Given the description of an element on the screen output the (x, y) to click on. 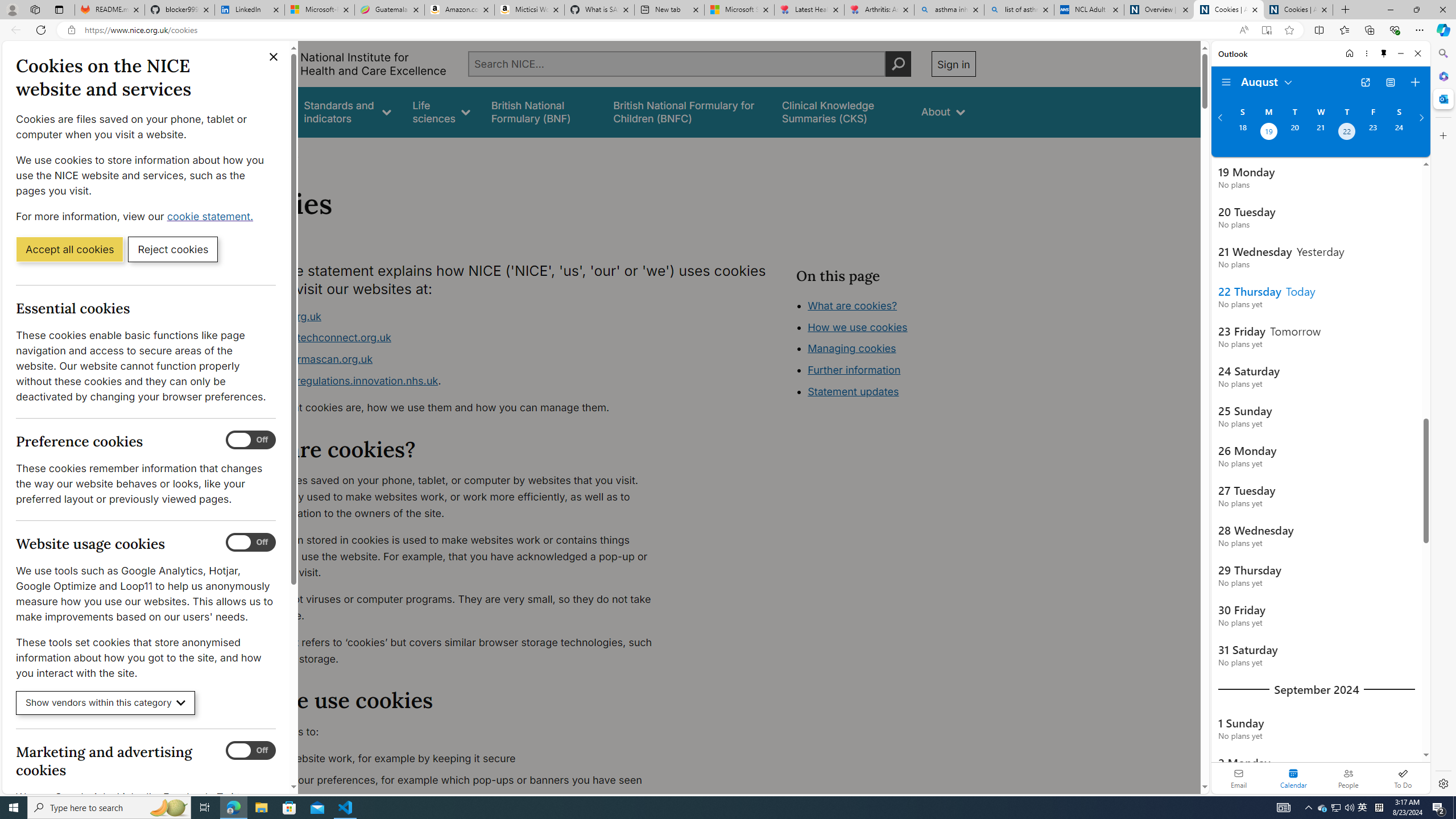
British National Formulary for Children (BNFC) (686, 111)
Tuesday, August 20, 2024.  (1294, 132)
Class: in-page-nav__list (884, 349)
Open in new tab (1365, 82)
make our website work, for example by keeping it secure (452, 759)
Selected calendar module. Date today is 22 (1293, 777)
Create event (1414, 82)
